Given the description of an element on the screen output the (x, y) to click on. 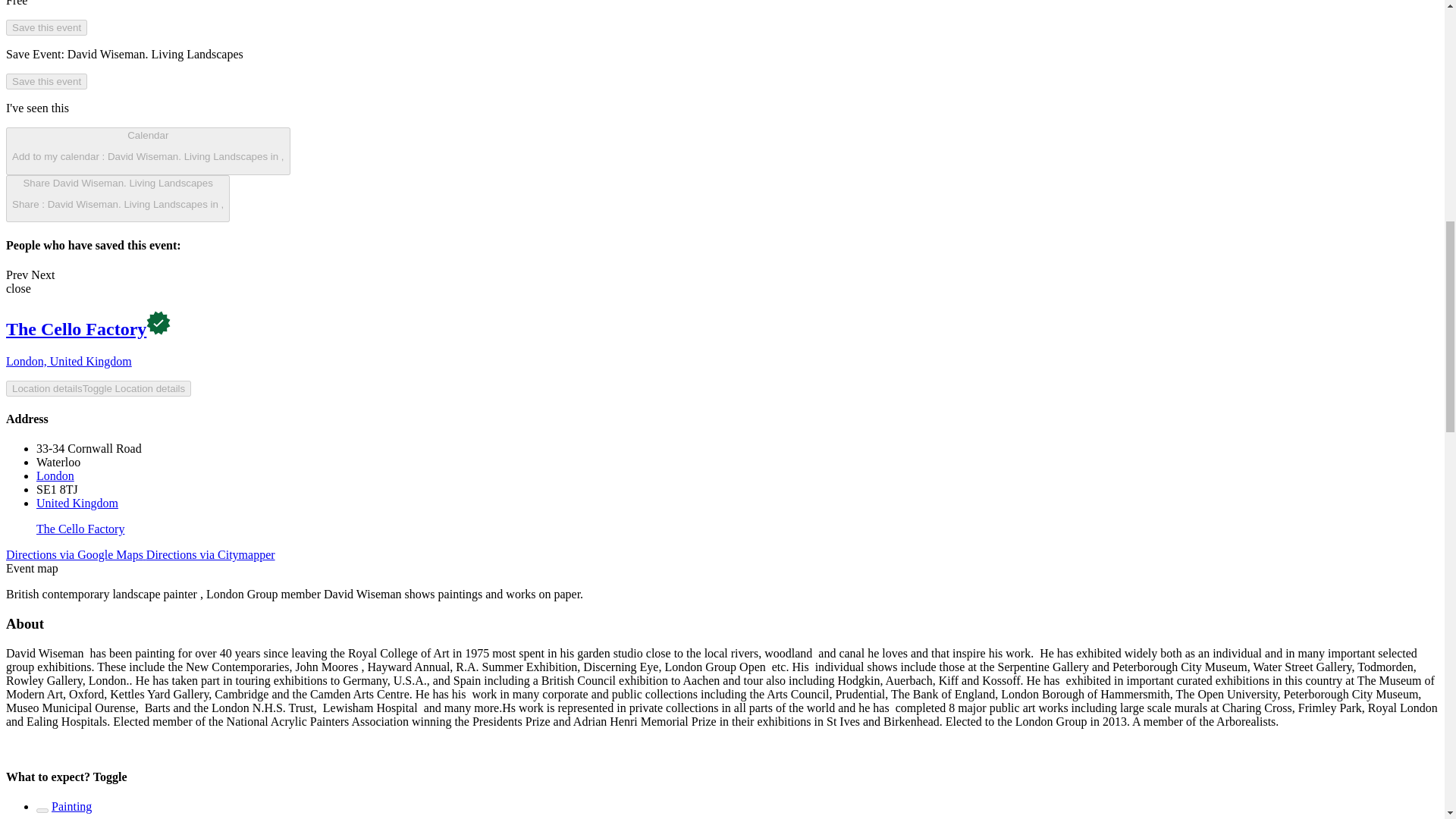
close (17, 287)
Save this event (46, 27)
Directions via Google Maps (76, 554)
United Kingdom (76, 502)
The Cello Factory (79, 528)
Painting (70, 806)
London (55, 475)
Next (42, 274)
Location detailsToggle Location details (97, 388)
